Given the description of an element on the screen output the (x, y) to click on. 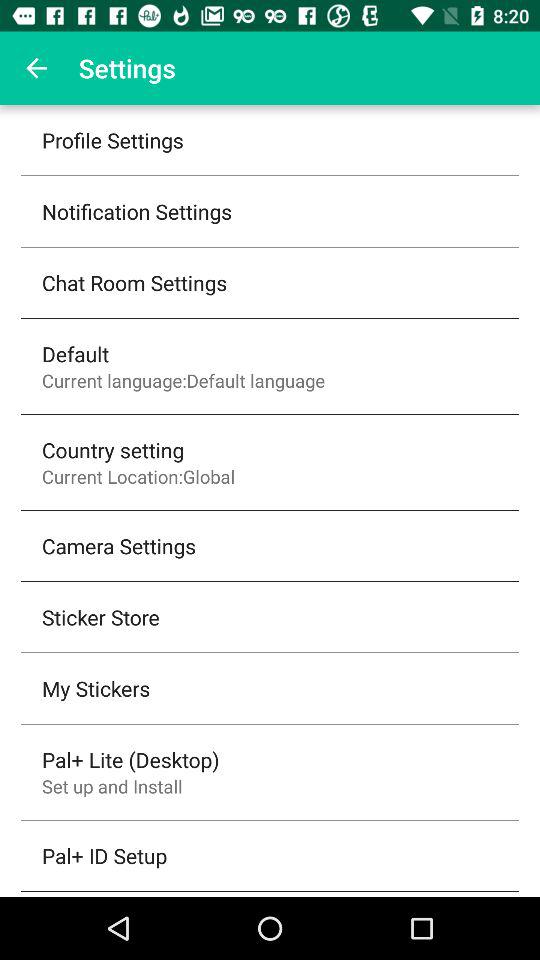
click the profile settings (112, 139)
